Given the description of an element on the screen output the (x, y) to click on. 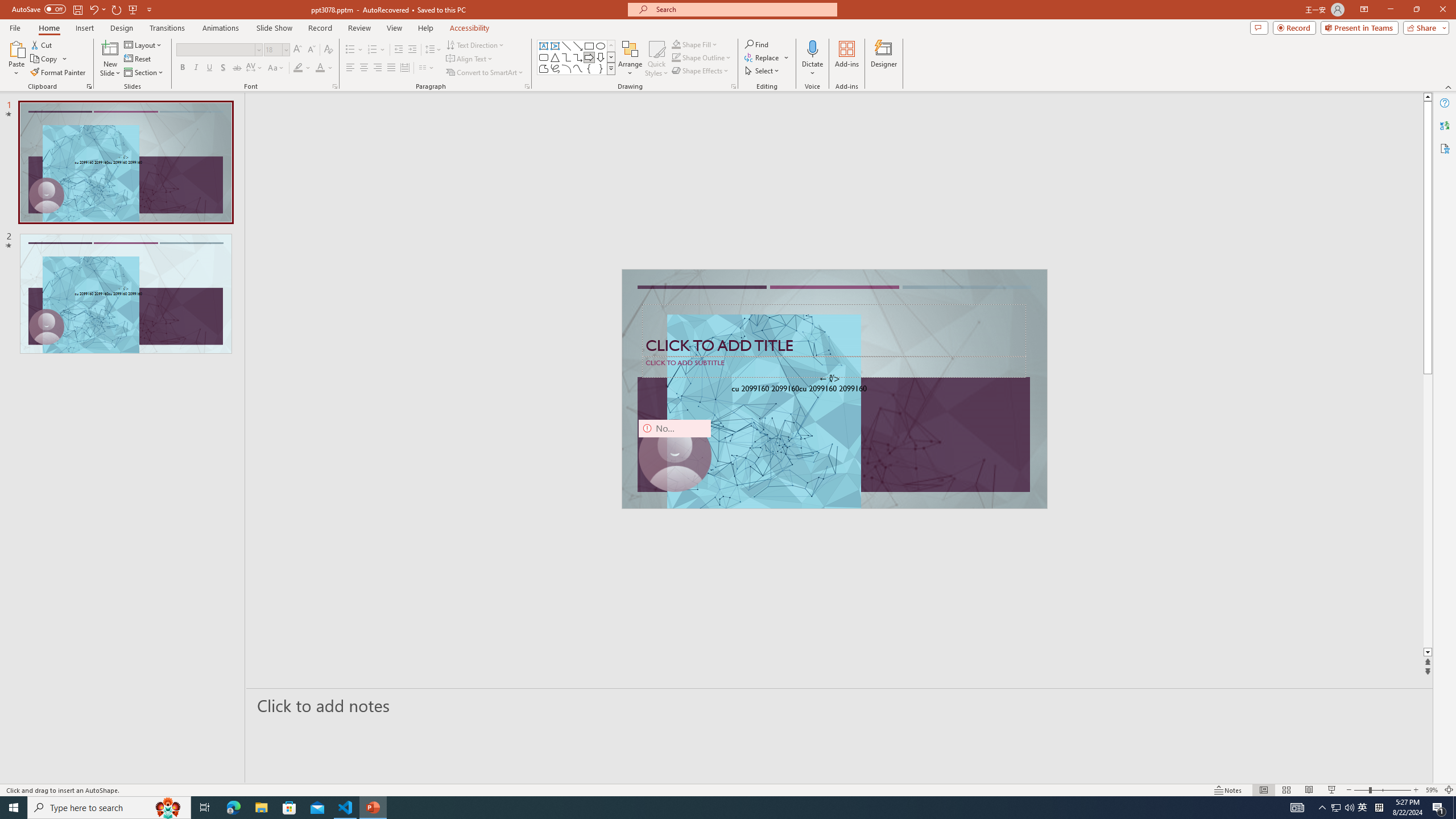
TextBox 61 (833, 389)
